Given the description of an element on the screen output the (x, y) to click on. 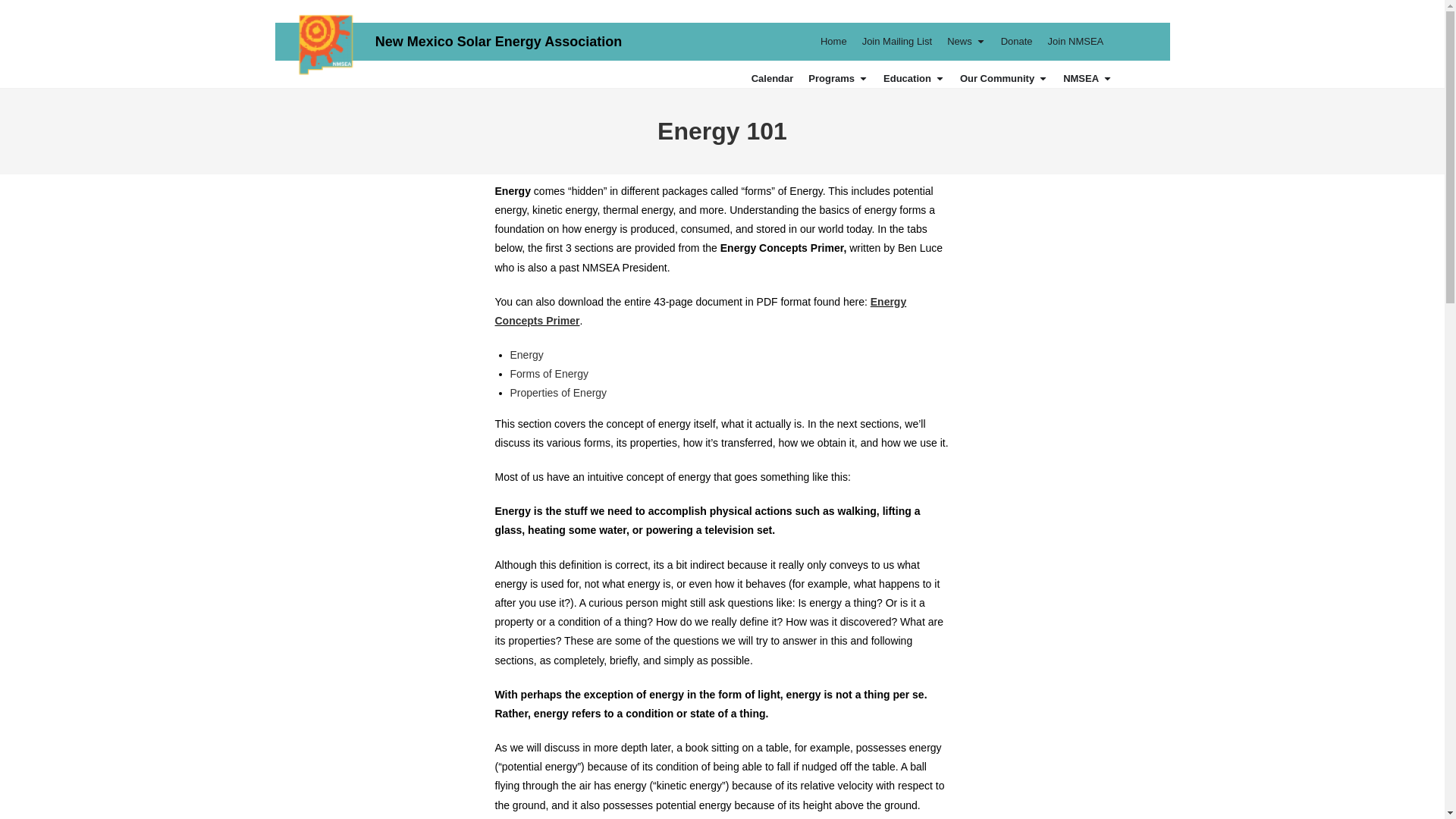
Home (834, 41)
New Mexico Solar Energy Association (498, 41)
Donate (1016, 41)
Join NMSEA (1075, 41)
Join Mailing List (897, 41)
